Given the description of an element on the screen output the (x, y) to click on. 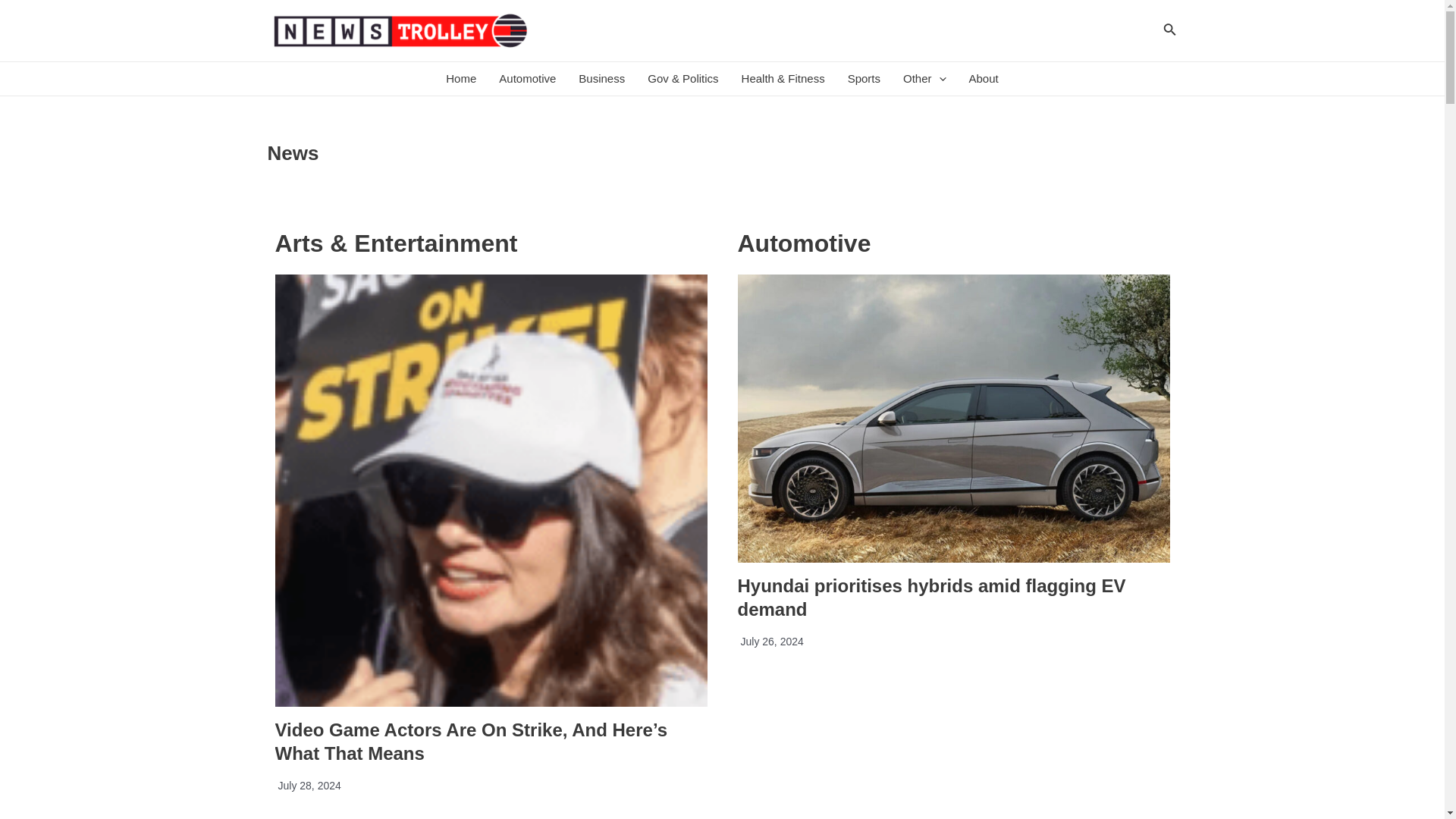
Business (601, 78)
Other (924, 78)
Automotive (527, 78)
About (984, 78)
Home (460, 78)
Sports (863, 78)
